Given the description of an element on the screen output the (x, y) to click on. 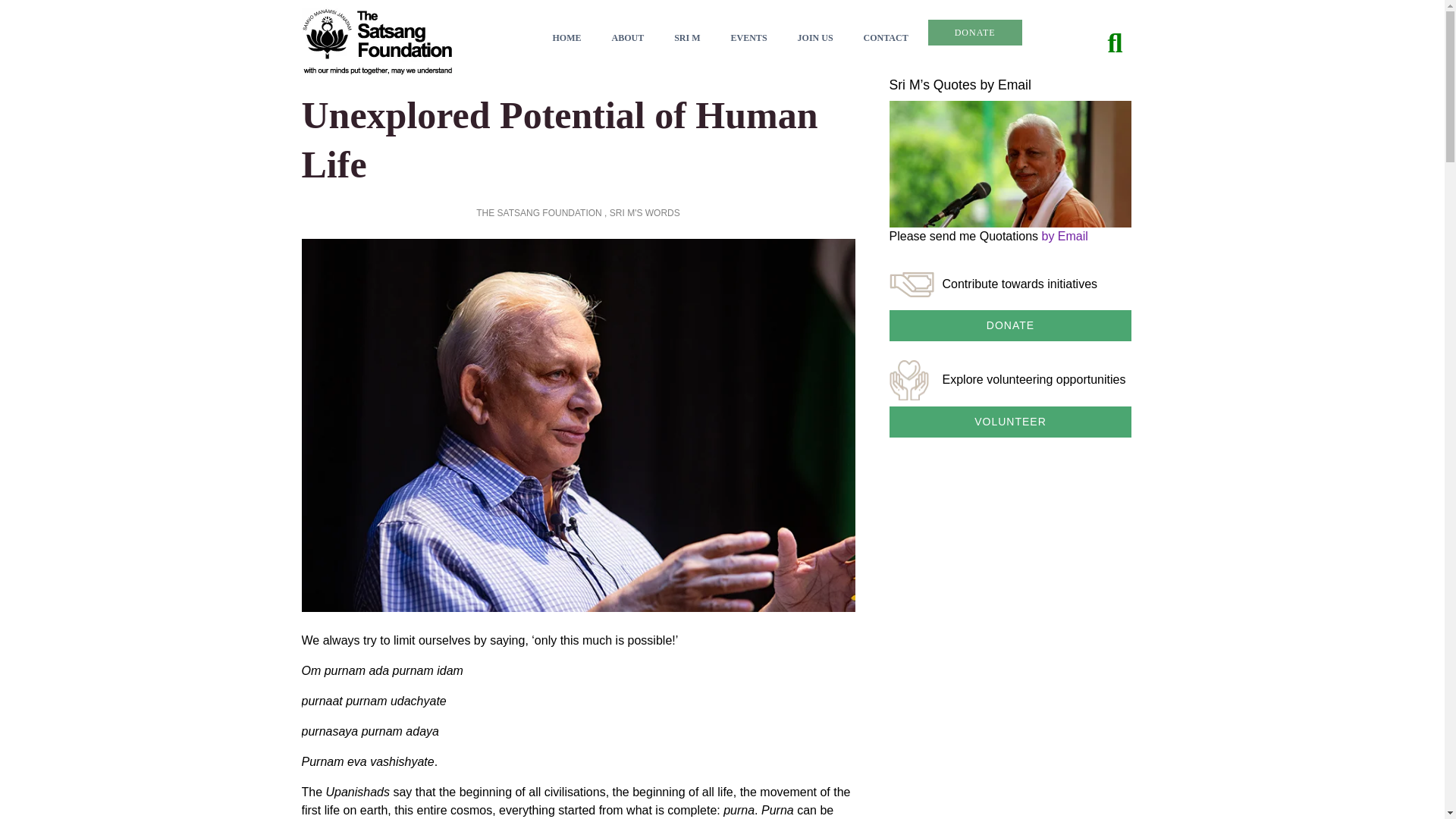
Posts by The Satsang Foundation (539, 213)
EVENTS (748, 38)
Unexplored Potential of Human Life (559, 139)
Unexplored Potential of Human Life (559, 139)
HOME (565, 38)
SRI M'S WORDS (644, 213)
DONATE (975, 32)
ABOUT (627, 38)
The official website of The Satsang Foundation (376, 40)
CONTACT (885, 38)
